Given the description of an element on the screen output the (x, y) to click on. 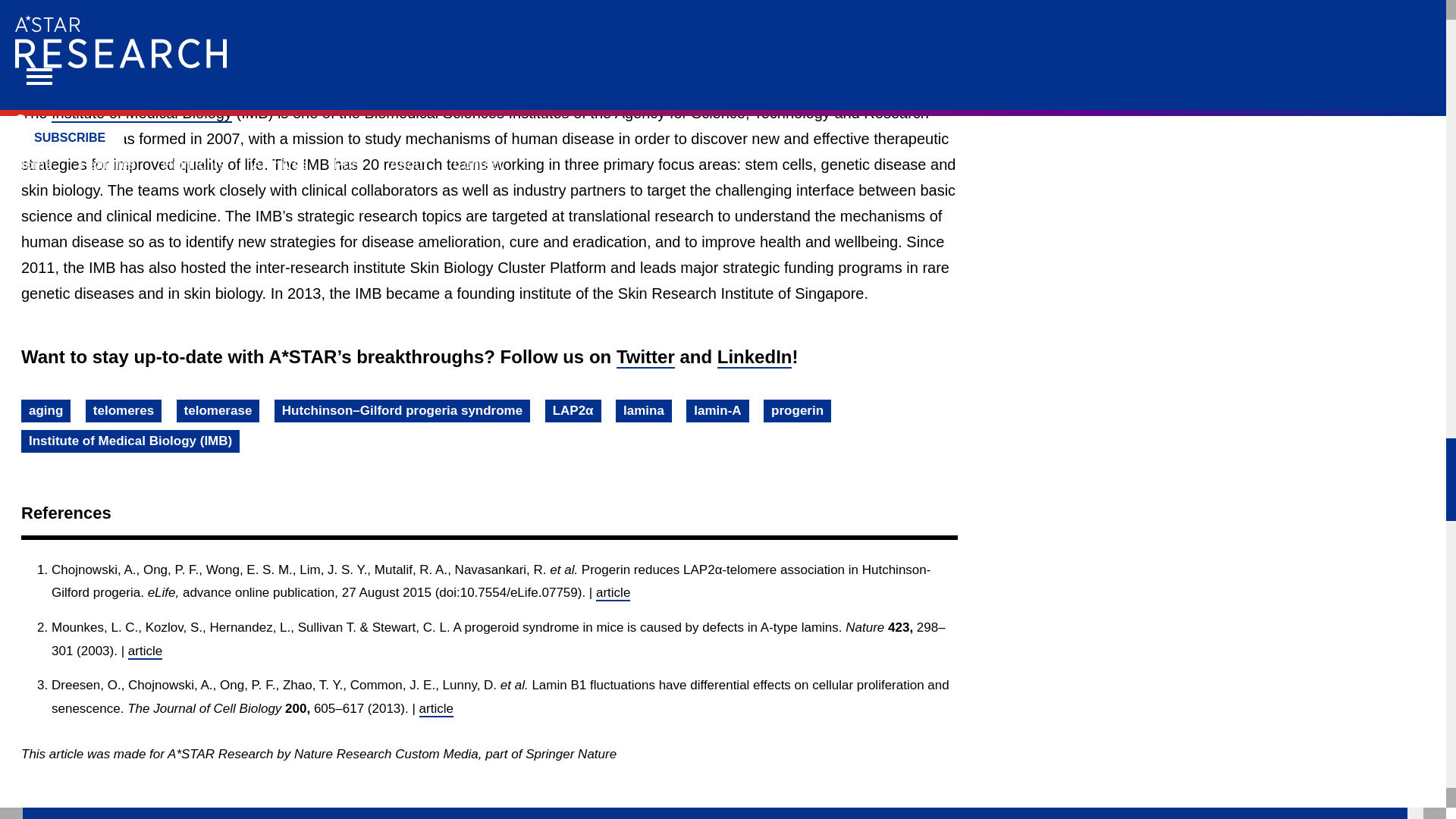
telomerase (218, 410)
Institute of Medical Biology (140, 113)
progerin (796, 410)
telomeres (123, 410)
aging (45, 410)
LinkedIn (754, 357)
article (612, 593)
lamina (643, 410)
article (144, 651)
Twitter (645, 357)
lamin-A (716, 410)
